Given the description of an element on the screen output the (x, y) to click on. 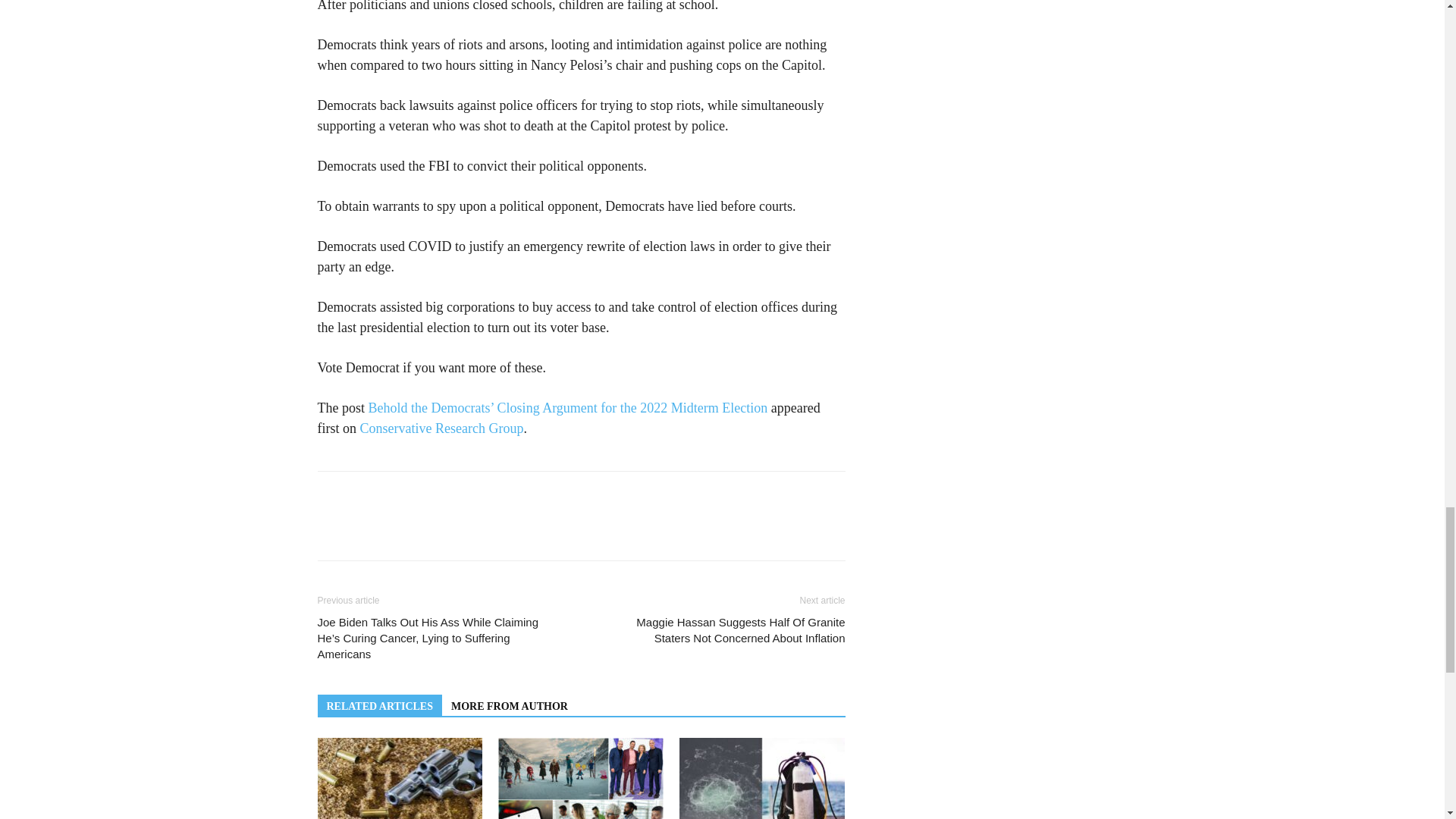
Conservative Research Group (440, 427)
